Given the description of an element on the screen output the (x, y) to click on. 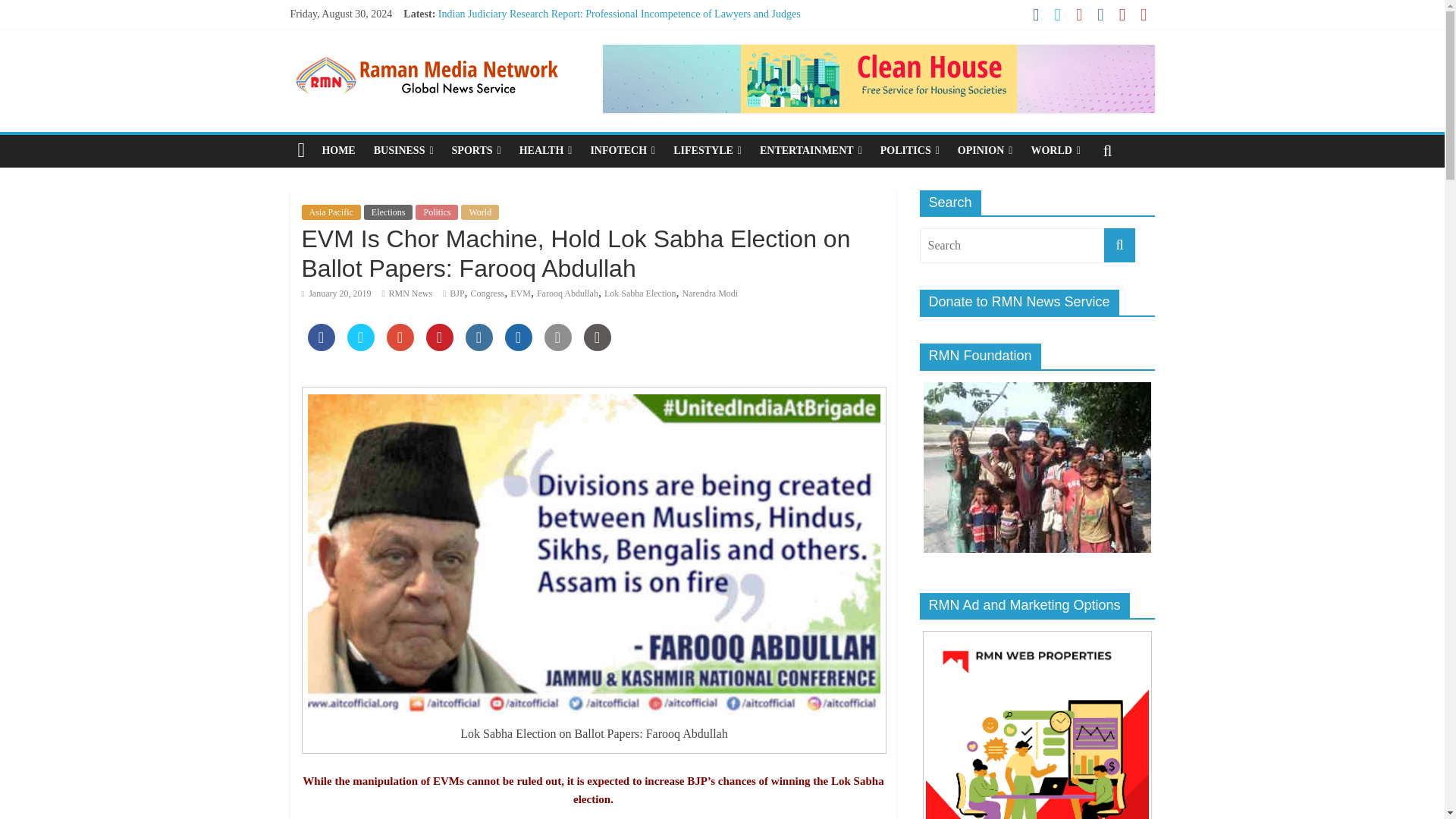
INFOTECH (621, 151)
How Spirituality Helps You Know the Truths of Life (550, 30)
BUSINESS (403, 151)
HOME (338, 151)
SPORTS (476, 151)
ENTERTAINMENT (810, 151)
